Given the description of an element on the screen output the (x, y) to click on. 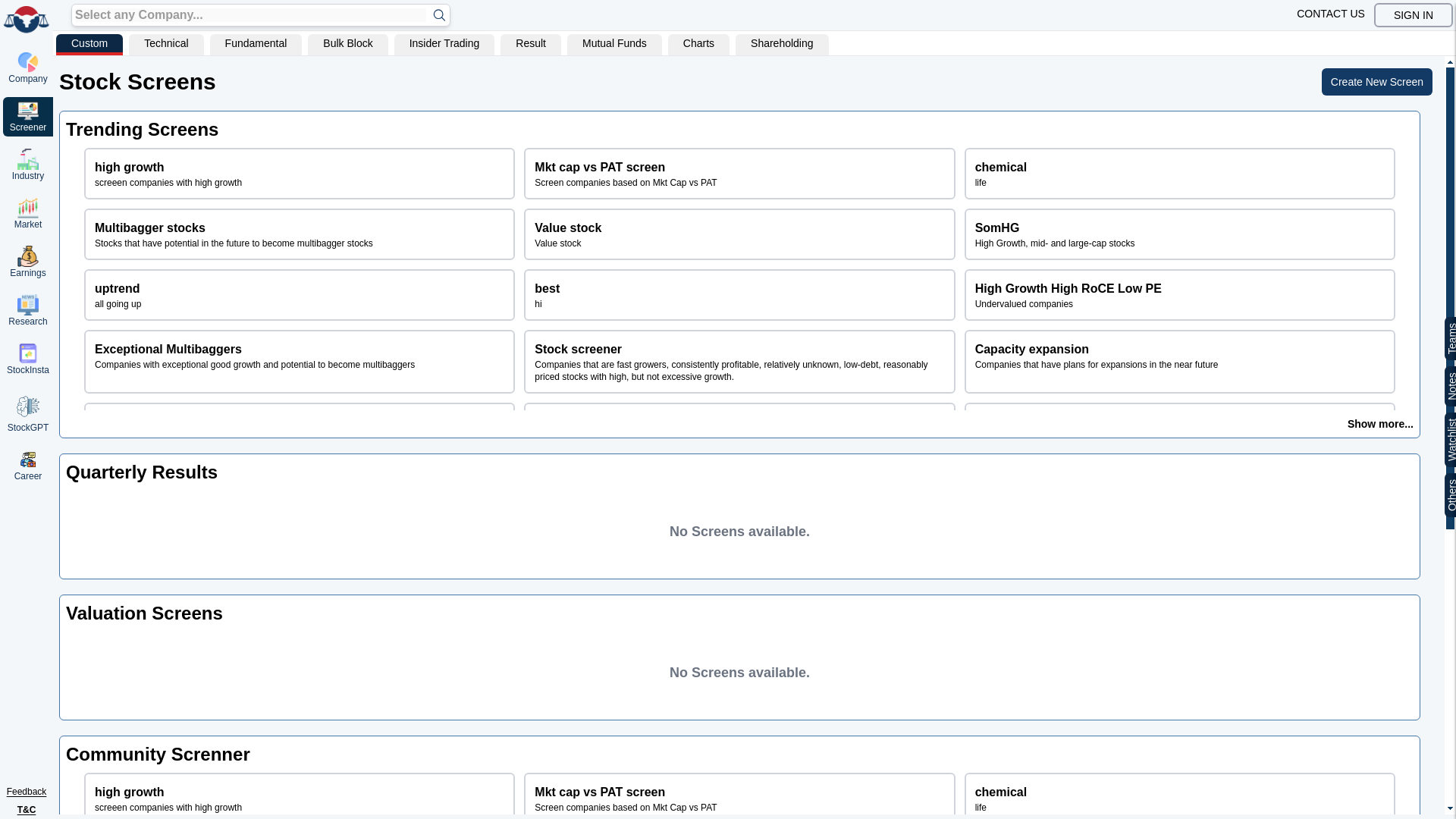
Fundamental (255, 44)
Shareholding (781, 44)
SIGN IN (739, 234)
Show more... (1413, 15)
CONTACT US (1380, 423)
Create New Screen (1331, 15)
Custom (1178, 234)
Feedback (299, 295)
